Given the description of an element on the screen output the (x, y) to click on. 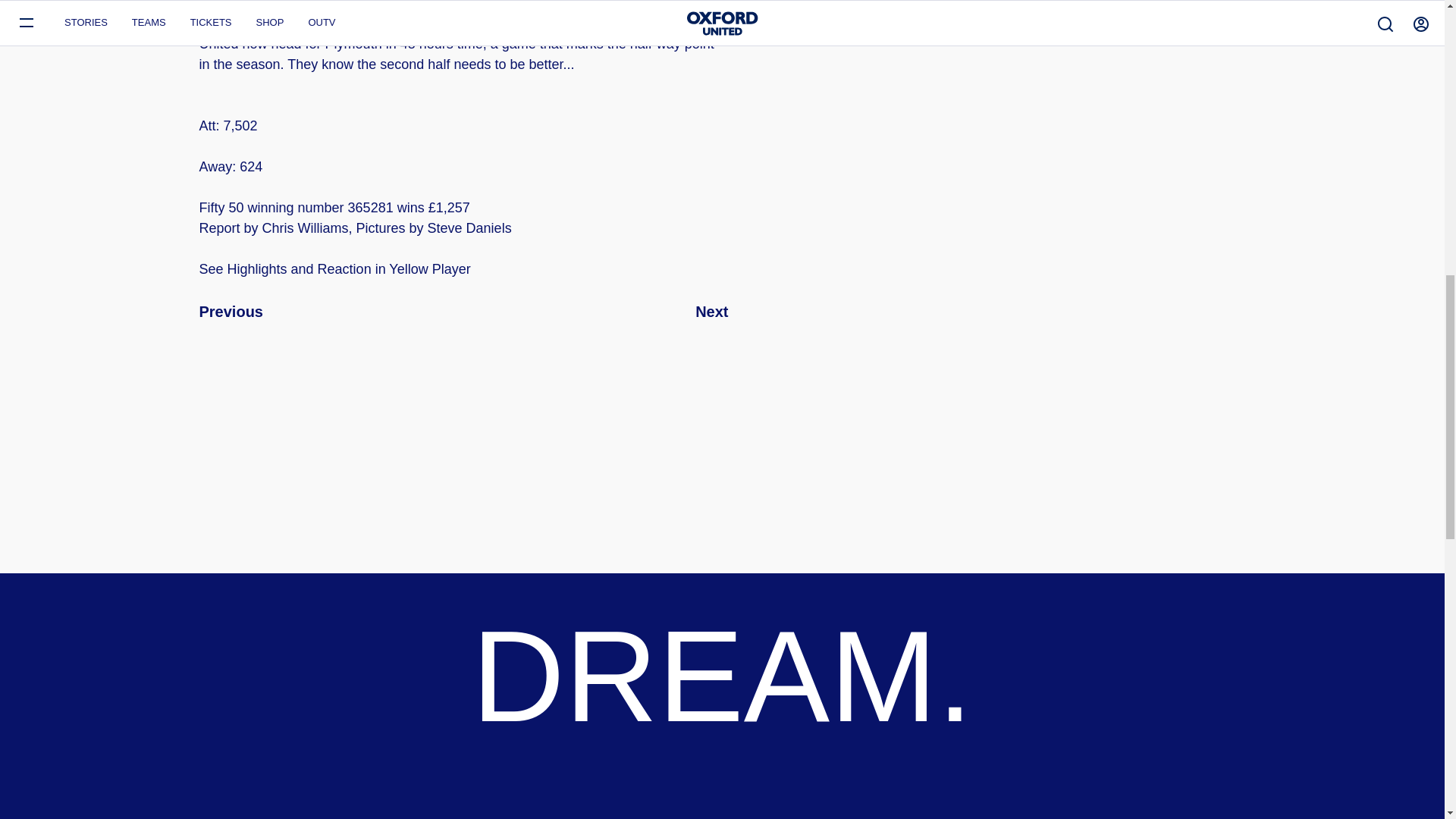
3rd party ad content (1098, 453)
3rd party ad content (595, 453)
3rd party ad content (344, 453)
3rd party ad content (846, 453)
